Given the description of an element on the screen output the (x, y) to click on. 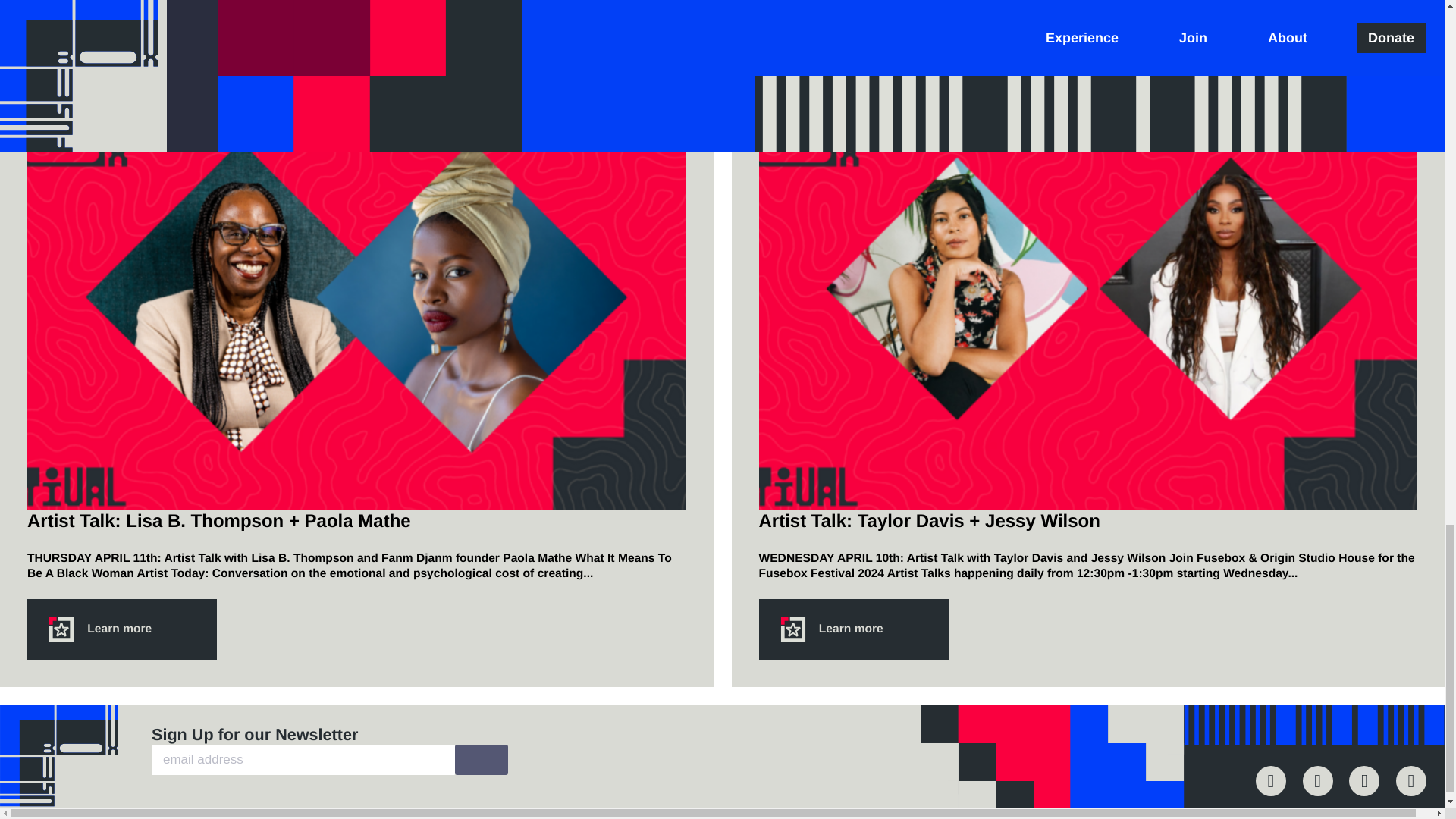
Subscribe (481, 759)
